Given the description of an element on the screen output the (x, y) to click on. 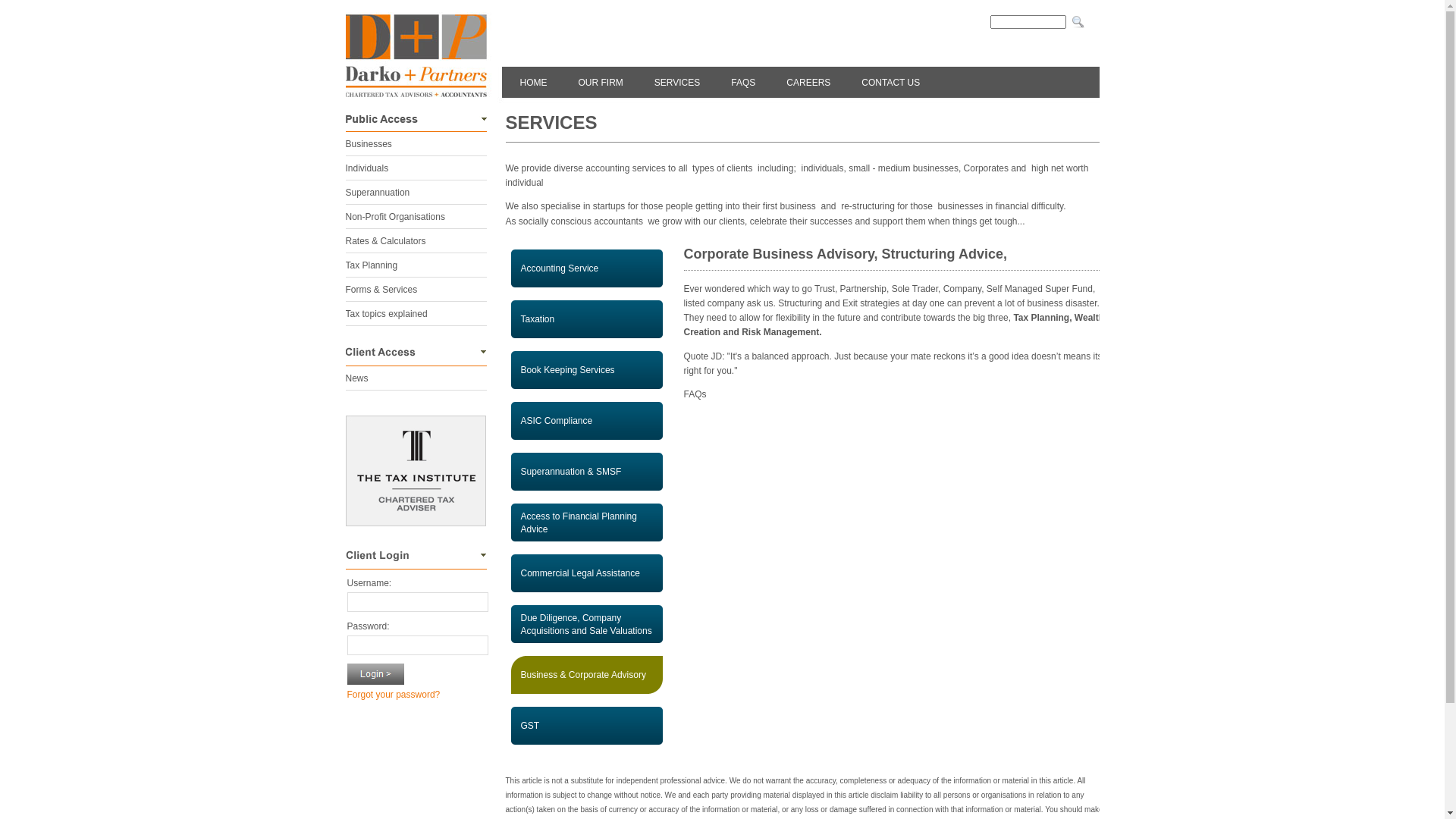
Commercial Legal Assistance Element type: text (579, 572)
Businesses Element type: text (368, 143)
Business & Corporate Advisory Element type: text (585, 677)
Tax topics explained Element type: text (386, 313)
Forms & Services Element type: text (381, 289)
Commercial Legal Assistance Element type: text (585, 575)
Individuals Element type: text (367, 168)
Superannuation & SMSF Element type: text (585, 473)
ASIC Compliance Element type: text (585, 423)
CONTACT US Element type: text (890, 82)
Taxation Element type: text (585, 321)
Business & Corporate Advisory Element type: text (582, 674)
GST Element type: text (529, 725)
Rates & Calculators Element type: text (385, 240)
Non-Profit Organisations Element type: text (395, 216)
Superannuation & SMSF Element type: text (570, 471)
Tax Planning Element type: text (371, 265)
HOME Element type: text (533, 82)
FAQS Element type: text (743, 82)
OUR FIRM Element type: text (599, 82)
Forgot your password? Element type: text (393, 694)
GST Element type: text (585, 727)
News Element type: text (356, 378)
Accounting Service Element type: text (585, 270)
Due Diligence, Company Acquisitions and Sale Valuations Element type: text (585, 624)
Book Keeping Services Element type: text (585, 372)
Accounting Service Element type: text (559, 268)
CAREERS Element type: text (808, 82)
SERVICES Element type: text (676, 82)
Book Keeping Services Element type: text (567, 369)
Access to Financial Planning Advice Element type: text (585, 524)
Taxation Element type: text (537, 318)
HOME OUR FIRM SERVICES FAQS CAREERS CONTACT US Element type: text (722, 56)
Superannuation Element type: text (377, 192)
ASIC Compliance Element type: text (556, 420)
Due Diligence, Company Acquisitions and Sale Valuations Element type: text (585, 626)
Access to Financial Planning Advice Element type: text (578, 522)
